Given the description of an element on the screen output the (x, y) to click on. 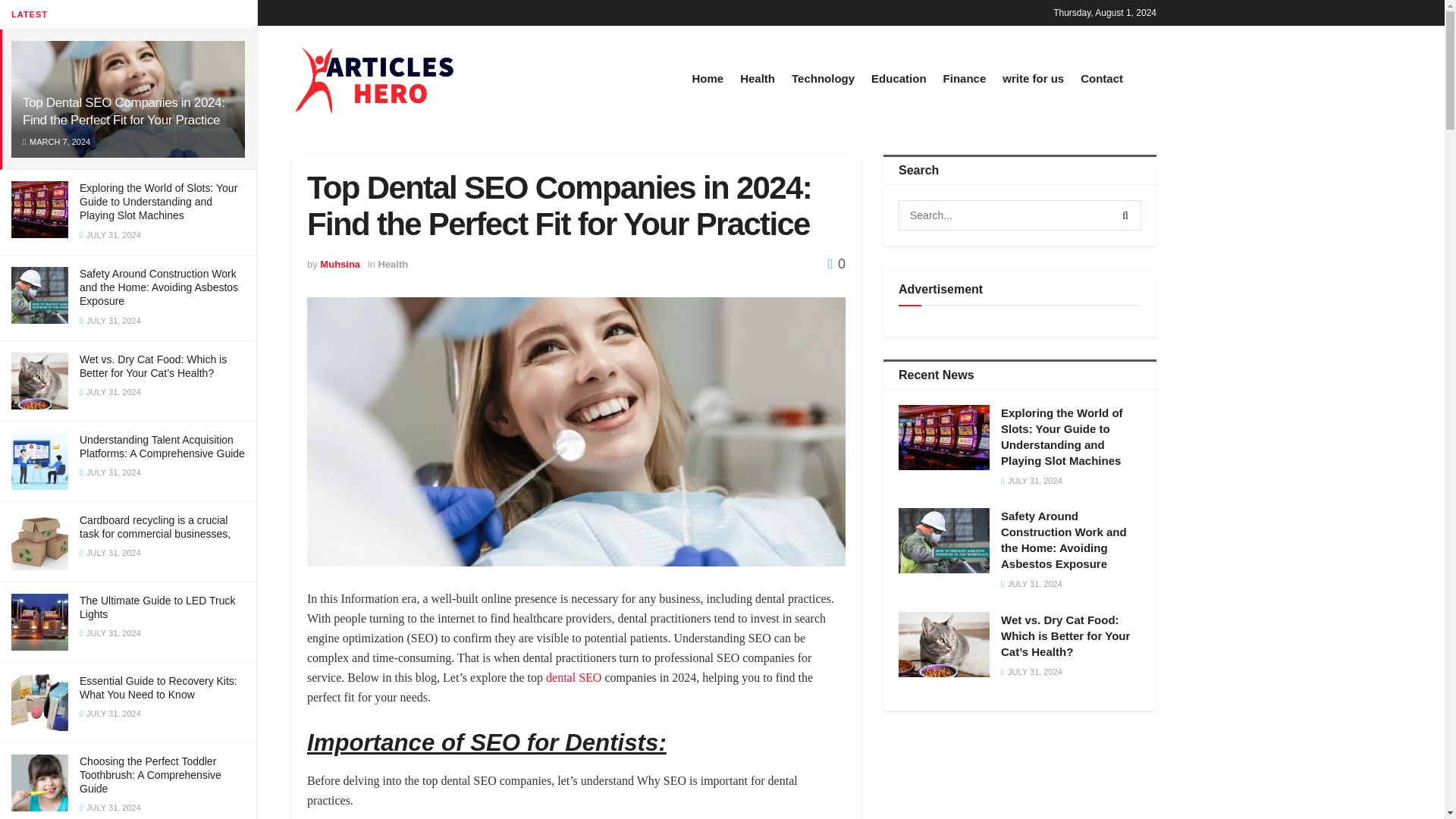
Health (756, 78)
Home (707, 78)
The Ultimate Guide to LED Truck Lights (157, 606)
Contact (1101, 78)
Essential Guide to Recovery Kits: What You Need to Know (158, 687)
write for us (1033, 78)
Technology (823, 78)
Education (898, 78)
Finance (965, 78)
